Given the description of an element on the screen output the (x, y) to click on. 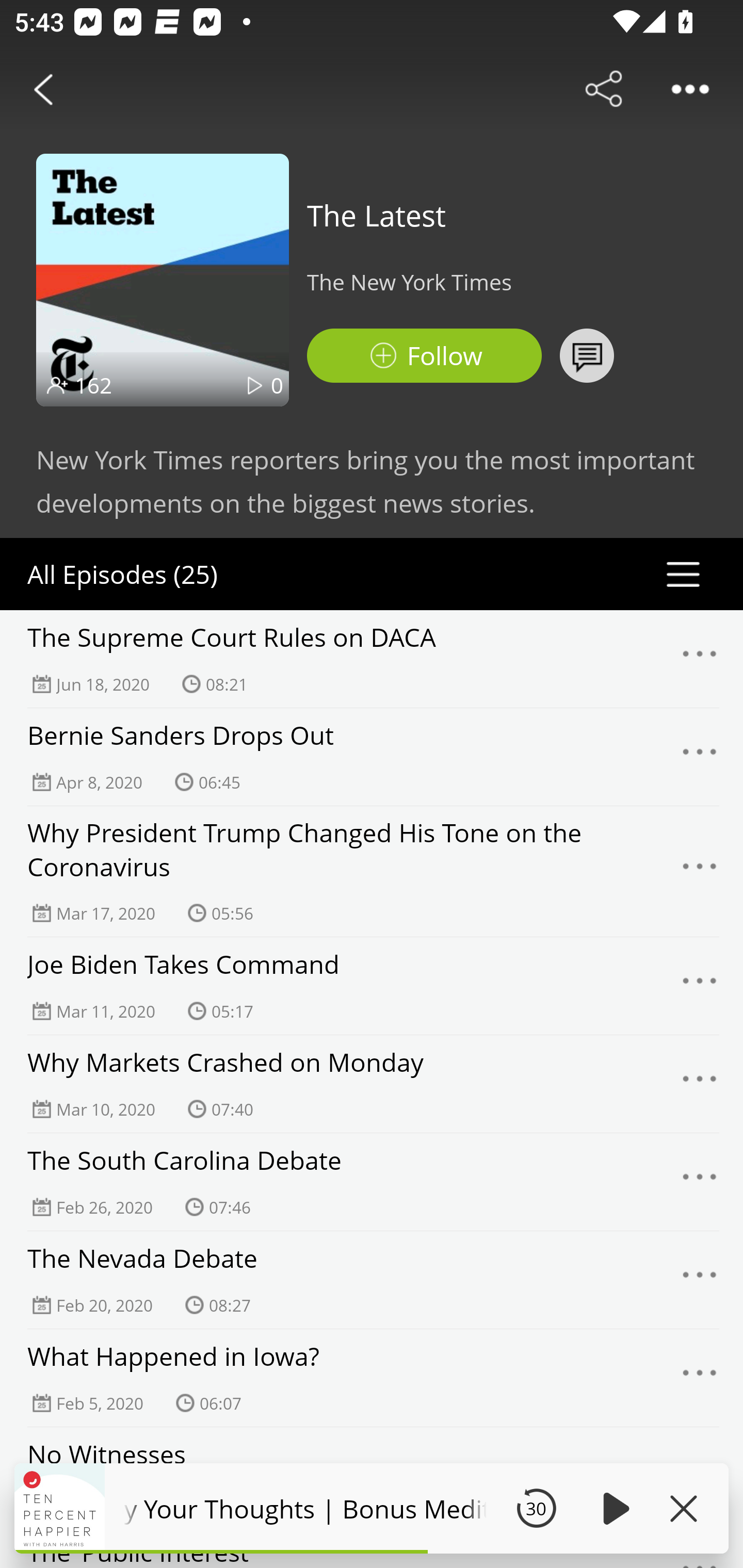
Back (43, 88)
Podbean Follow (423, 355)
162 (93, 384)
Menu (699, 659)
Bernie Sanders Drops Out Apr 8, 2020 06:45 Menu (371, 756)
Menu (699, 757)
Menu (699, 871)
Joe Biden Takes Command Mar 11, 2020 05:17 Menu (371, 985)
Menu (699, 986)
Menu (699, 1084)
The South Carolina Debate Feb 26, 2020 07:46 Menu (371, 1181)
Menu (699, 1182)
The Nevada Debate Feb 20, 2020 08:27 Menu (371, 1279)
Menu (699, 1280)
What Happened in Iowa? Feb 5, 2020 06:07 Menu (371, 1377)
Menu (699, 1378)
Play (613, 1507)
30 Seek Backward (536, 1508)
